Given the description of an element on the screen output the (x, y) to click on. 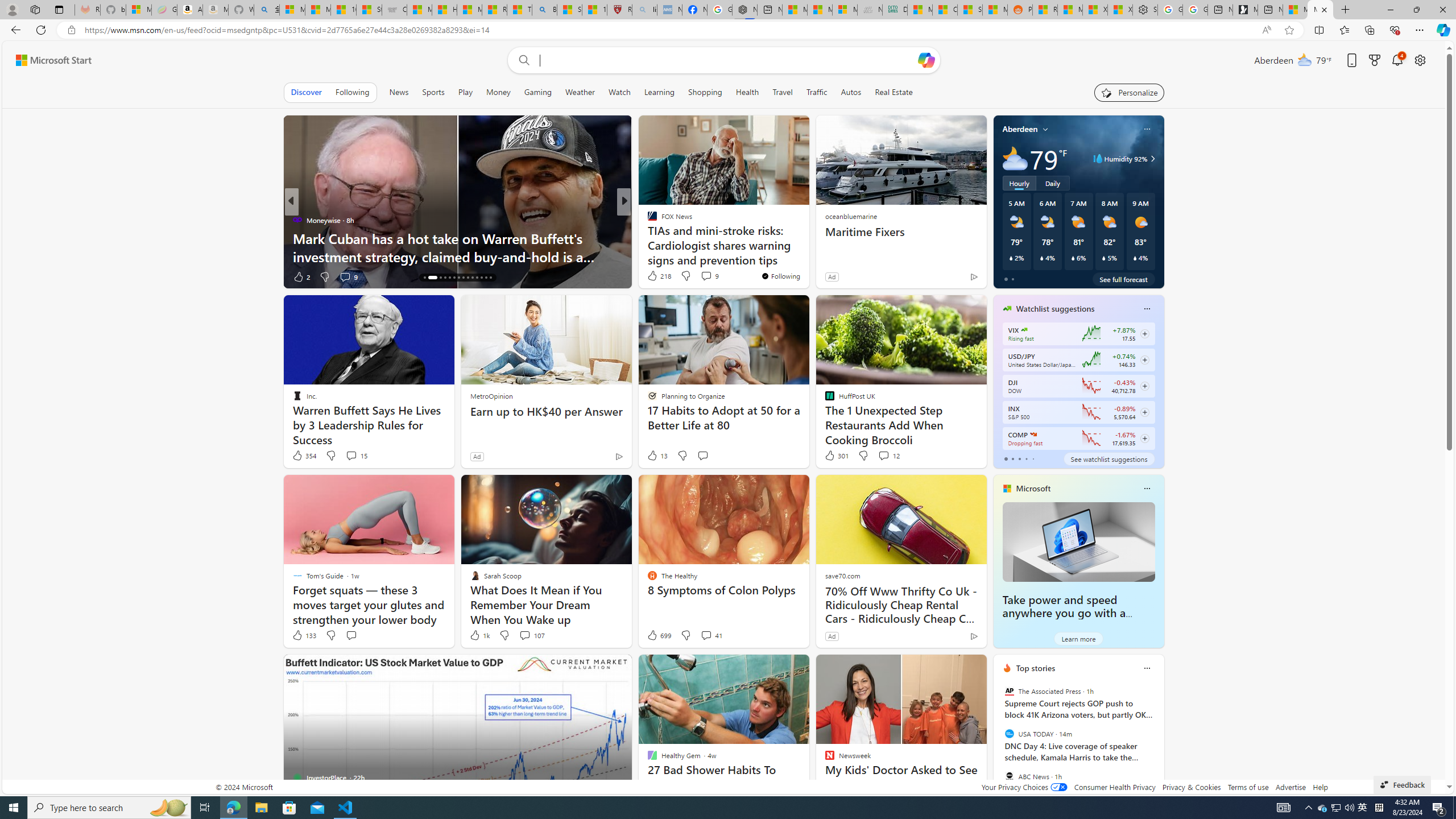
The Best Single Stock to Own for 5 Years (807, 256)
Parade (647, 219)
604 Like (654, 276)
4 Like (651, 276)
Daily (1052, 183)
View comments 107 Comment (523, 635)
oceanbluemarine (850, 215)
